Given the description of an element on the screen output the (x, y) to click on. 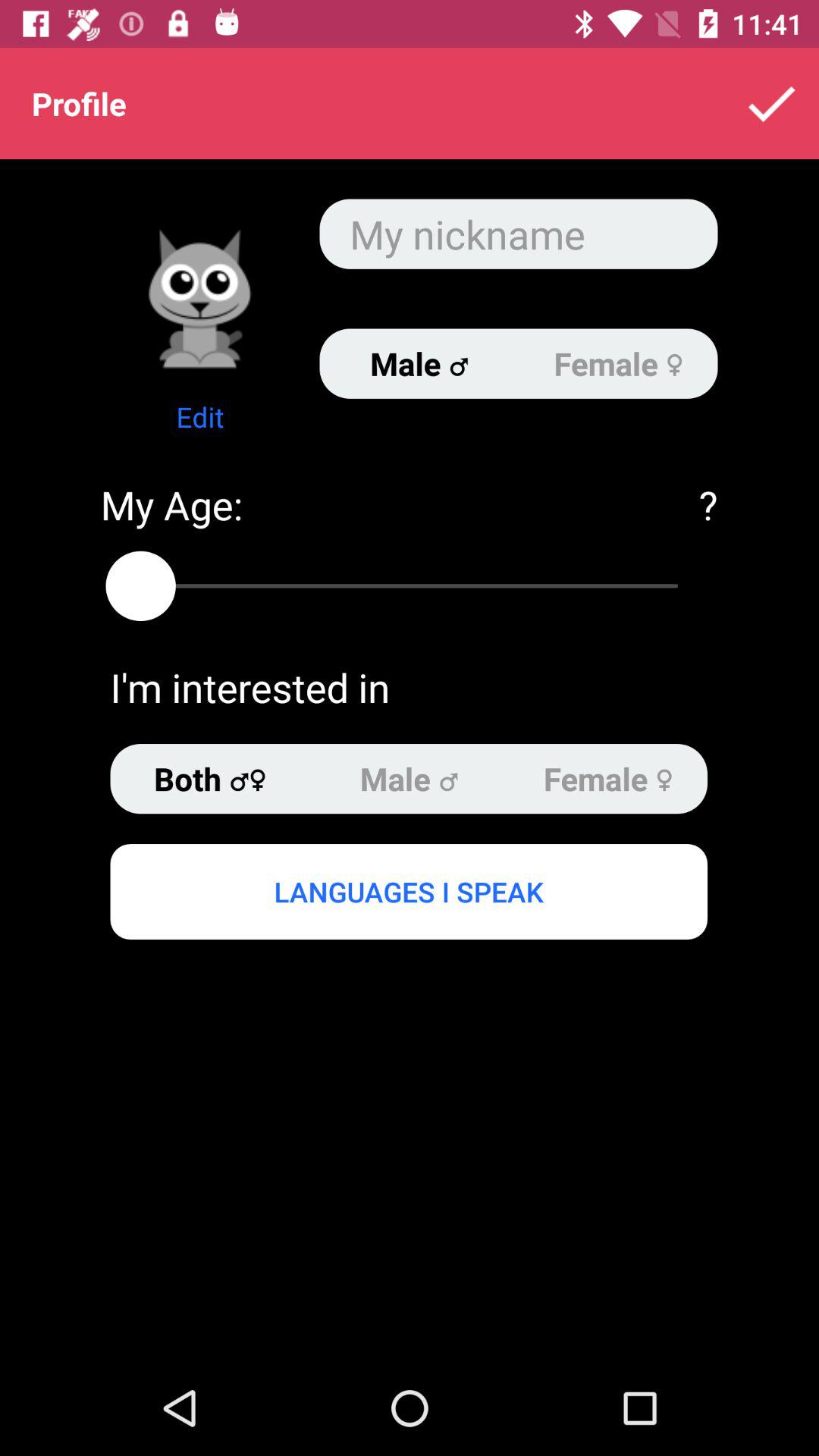
enter text (518, 234)
